Given the description of an element on the screen output the (x, y) to click on. 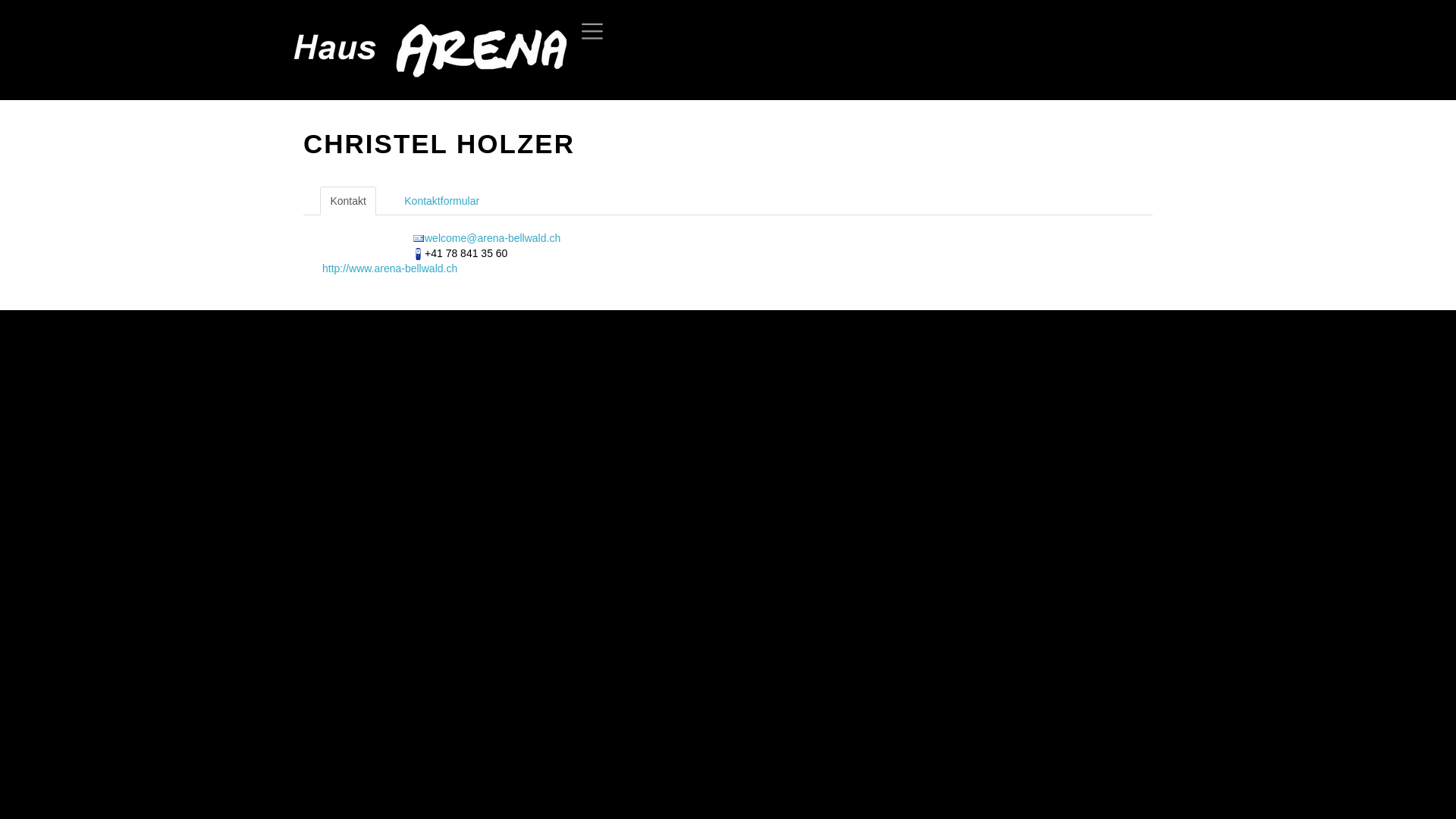
Kontakt Element type: text (347, 200)
http://www.arena-bellwald.ch Element type: text (389, 268)
Haus ARENA Element type: hover (422, 50)
welcome@arena-bellwald.ch Element type: text (492, 238)
Kontaktformular Element type: text (441, 200)
